Given the description of an element on the screen output the (x, y) to click on. 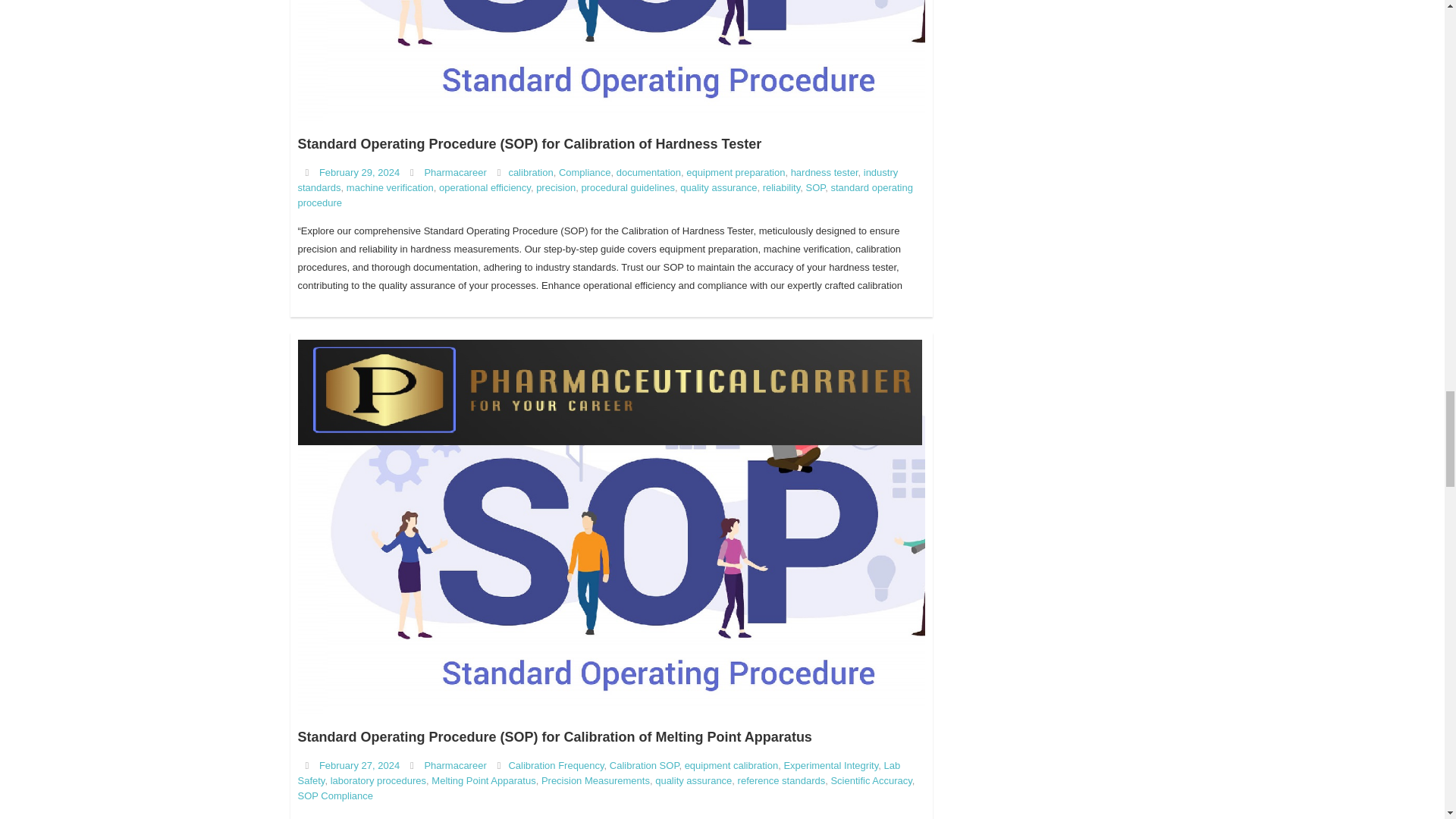
View all posts by Pharmacareer (454, 172)
10:07 pm (358, 765)
5:51 pm (358, 172)
View all posts by Pharmacareer (454, 765)
